Given the description of an element on the screen output the (x, y) to click on. 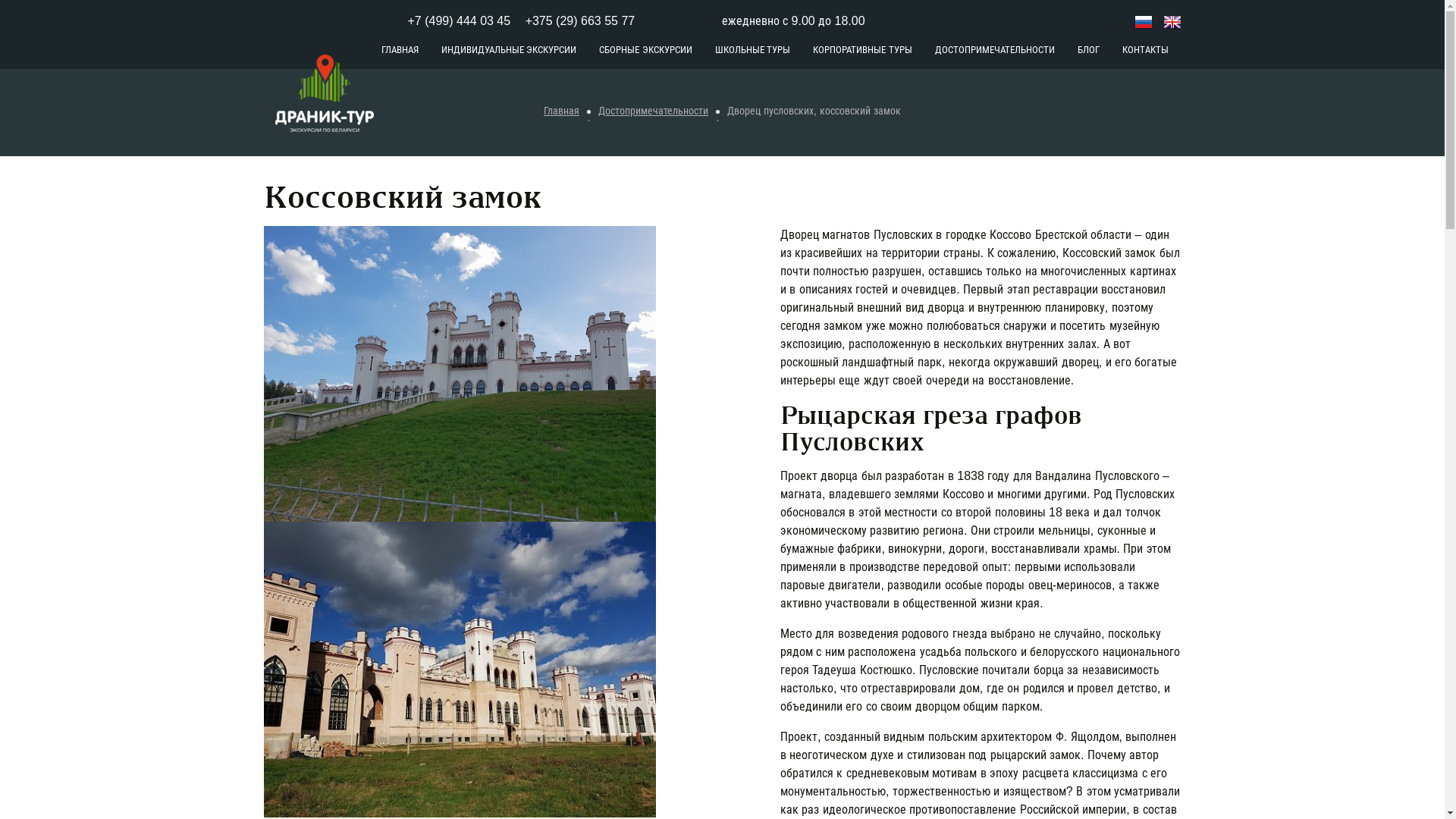
+375 (29) 663 55 77 Element type: text (602, 20)
+7 (499) 444 03 45 Element type: text (459, 20)
